Given the description of an element on the screen output the (x, y) to click on. 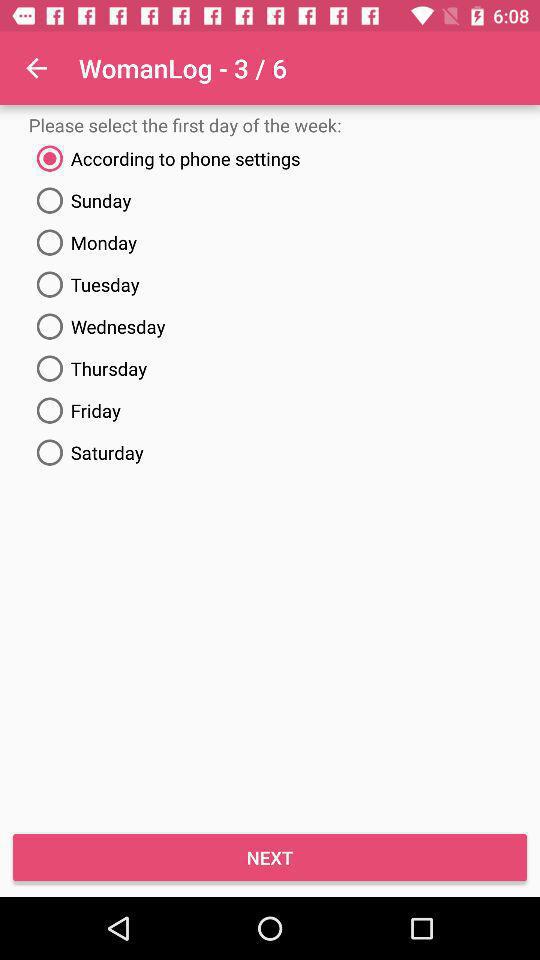
choose the item below the wednesday icon (269, 368)
